Given the description of an element on the screen output the (x, y) to click on. 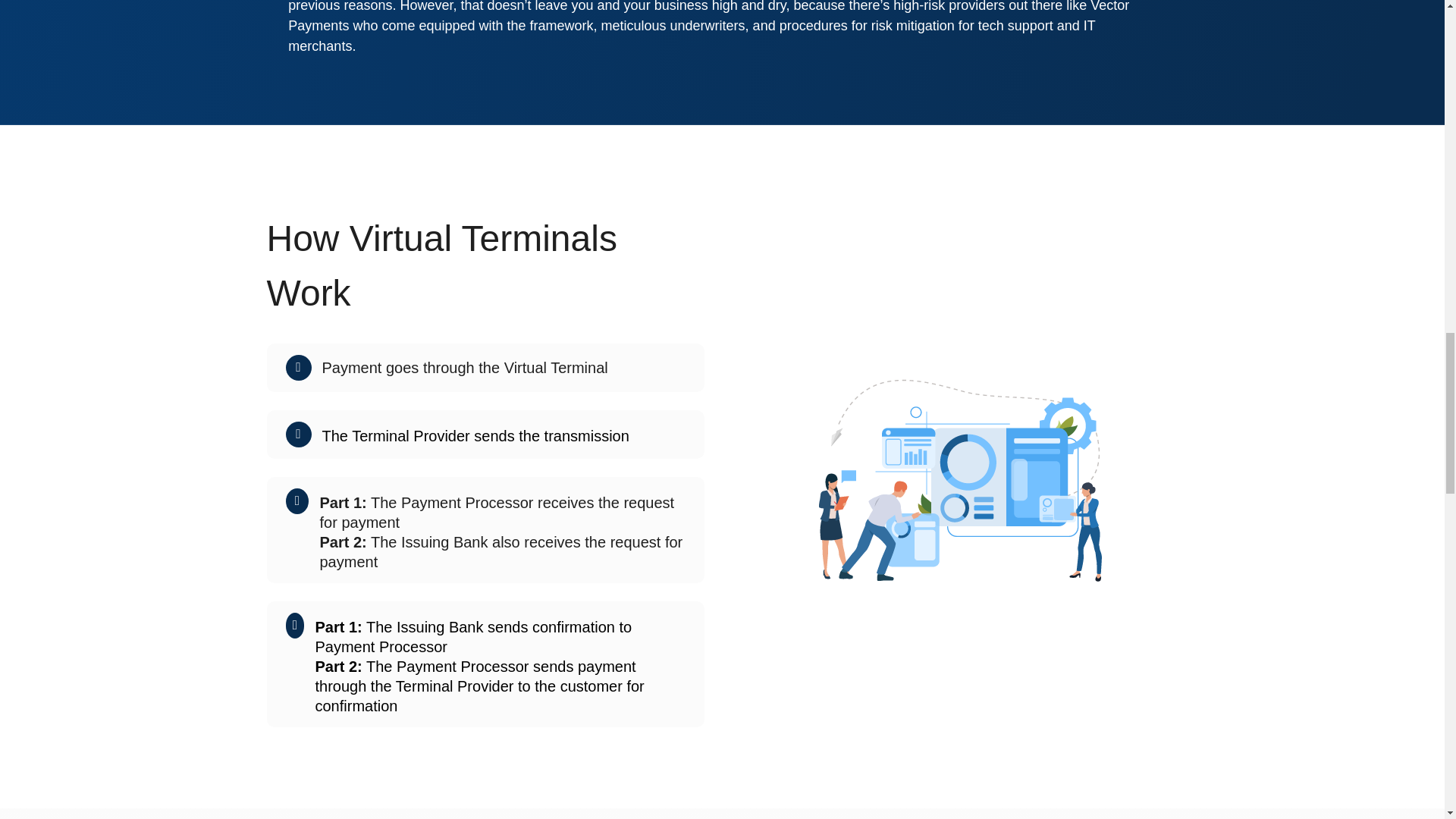
integration (958, 477)
